Given the description of an element on the screen output the (x, y) to click on. 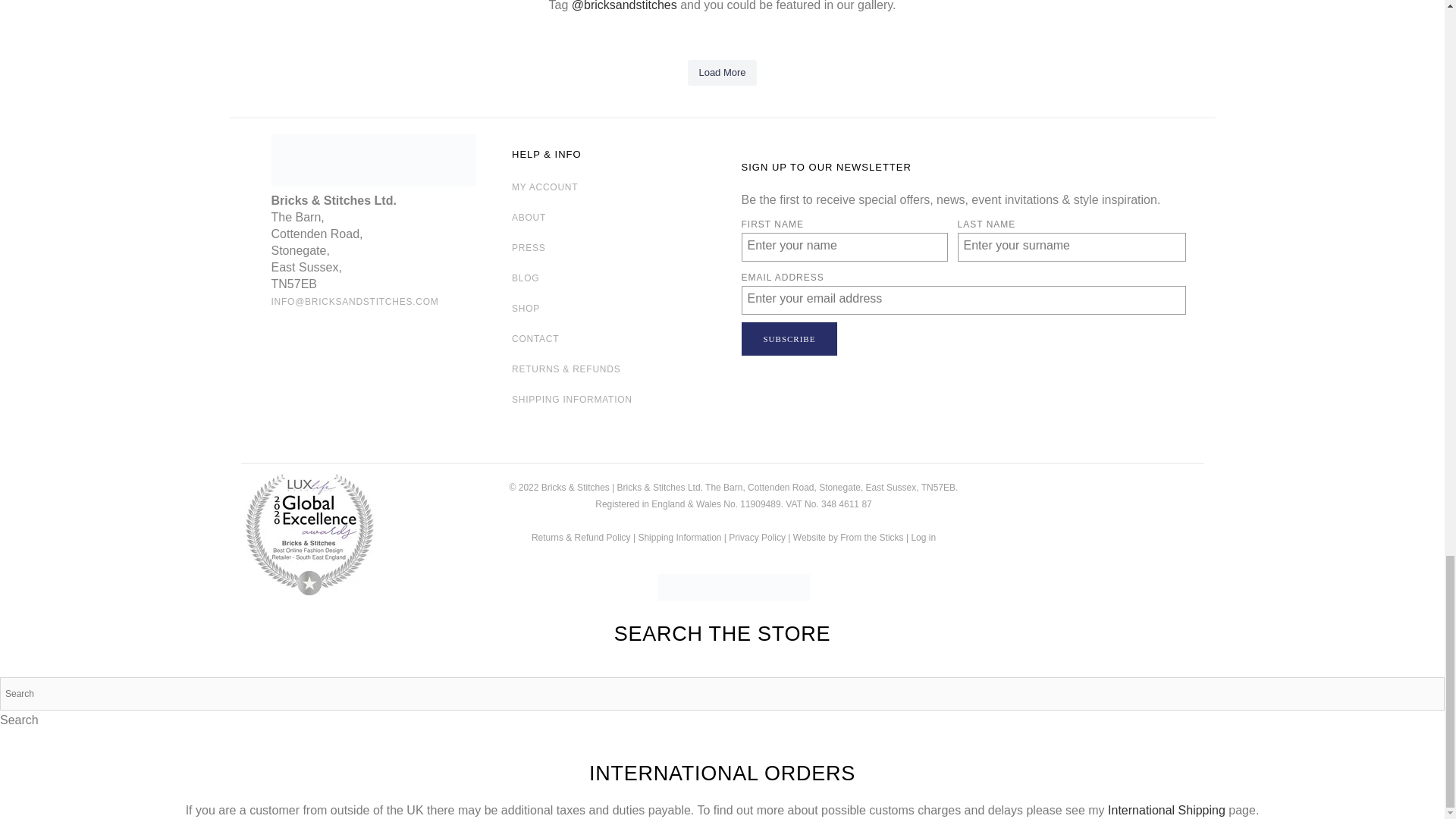
Subscribe (789, 338)
